Given the description of an element on the screen output the (x, y) to click on. 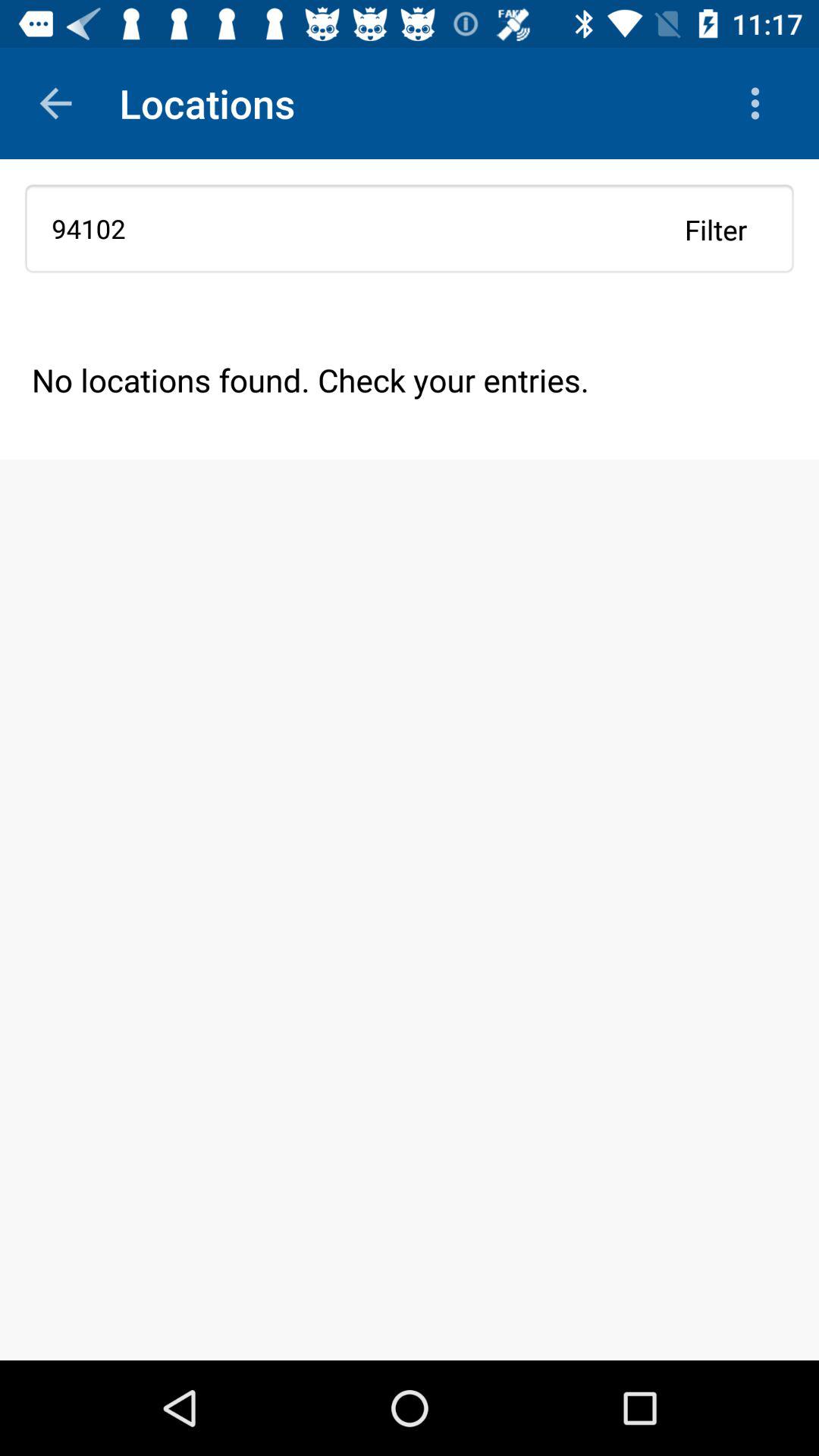
scroll to the 94102 icon (409, 228)
